Given the description of an element on the screen output the (x, y) to click on. 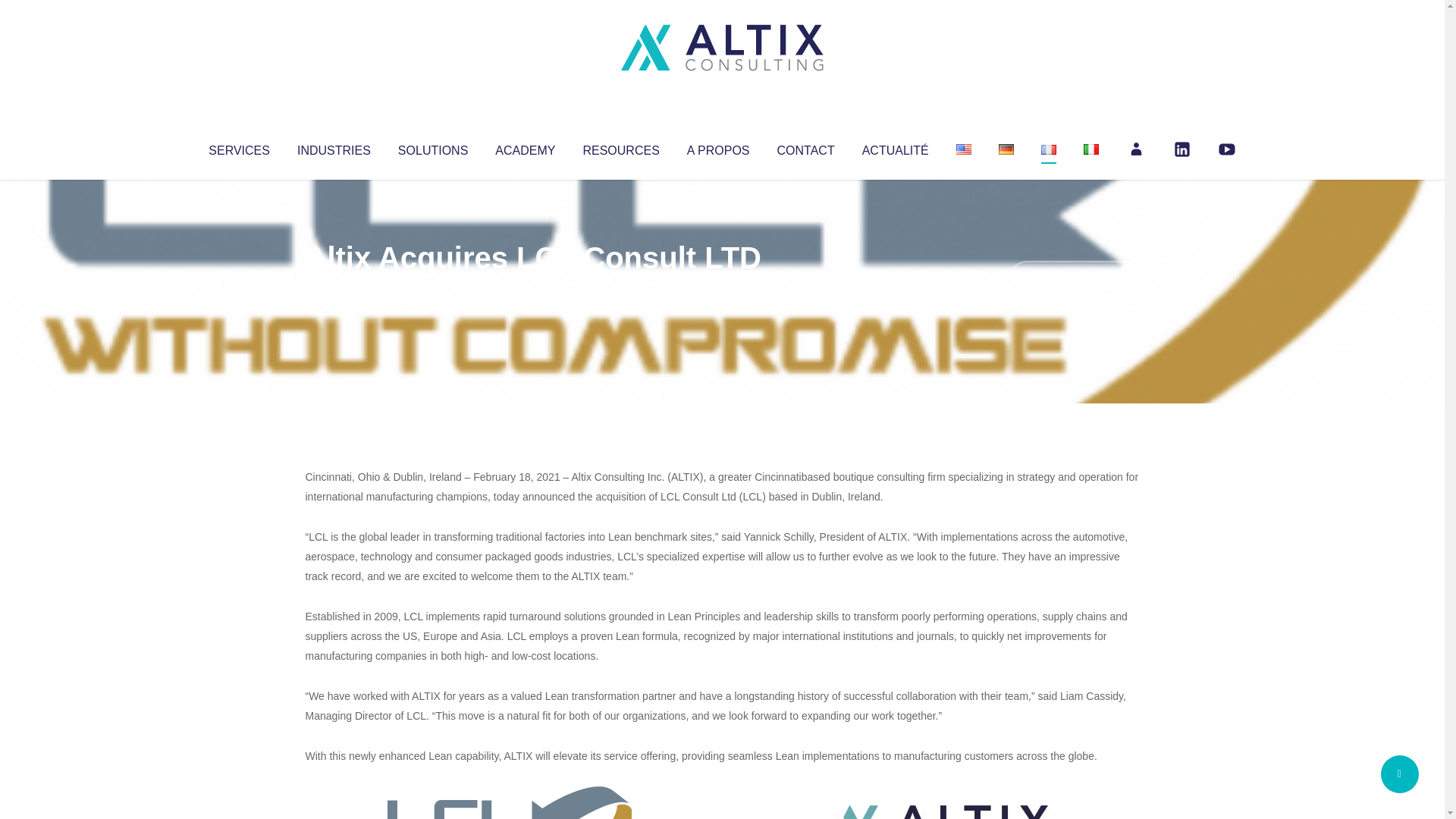
Uncategorized (530, 287)
INDUSTRIES (334, 146)
SOLUTIONS (432, 146)
No Comments (1073, 278)
A PROPOS (718, 146)
SERVICES (238, 146)
Articles par Altix (333, 287)
RESOURCES (620, 146)
ACADEMY (524, 146)
Altix (333, 287)
